Given the description of an element on the screen output the (x, y) to click on. 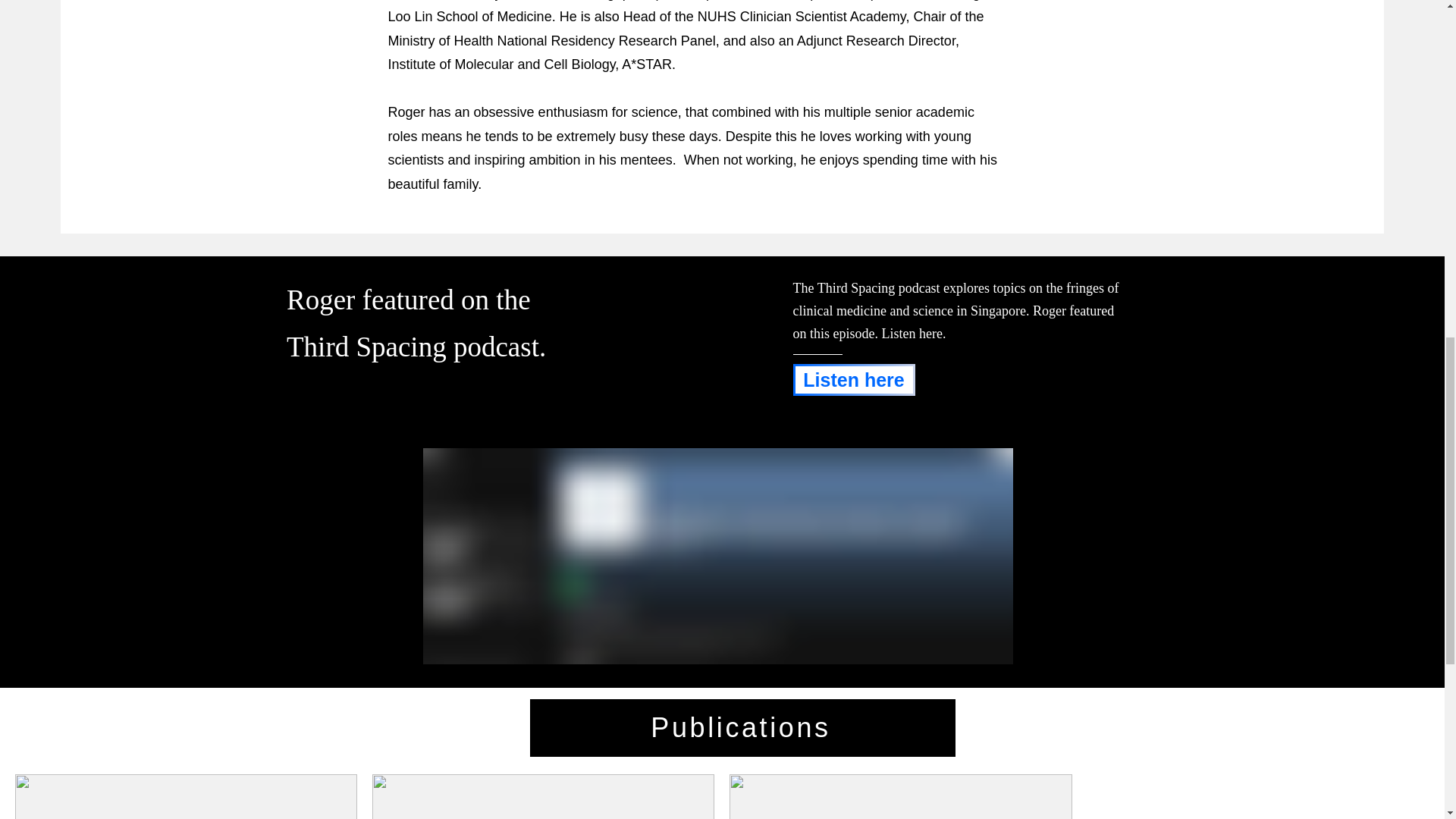
Publications (742, 727)
Listen here (854, 379)
